Given the description of an element on the screen output the (x, y) to click on. 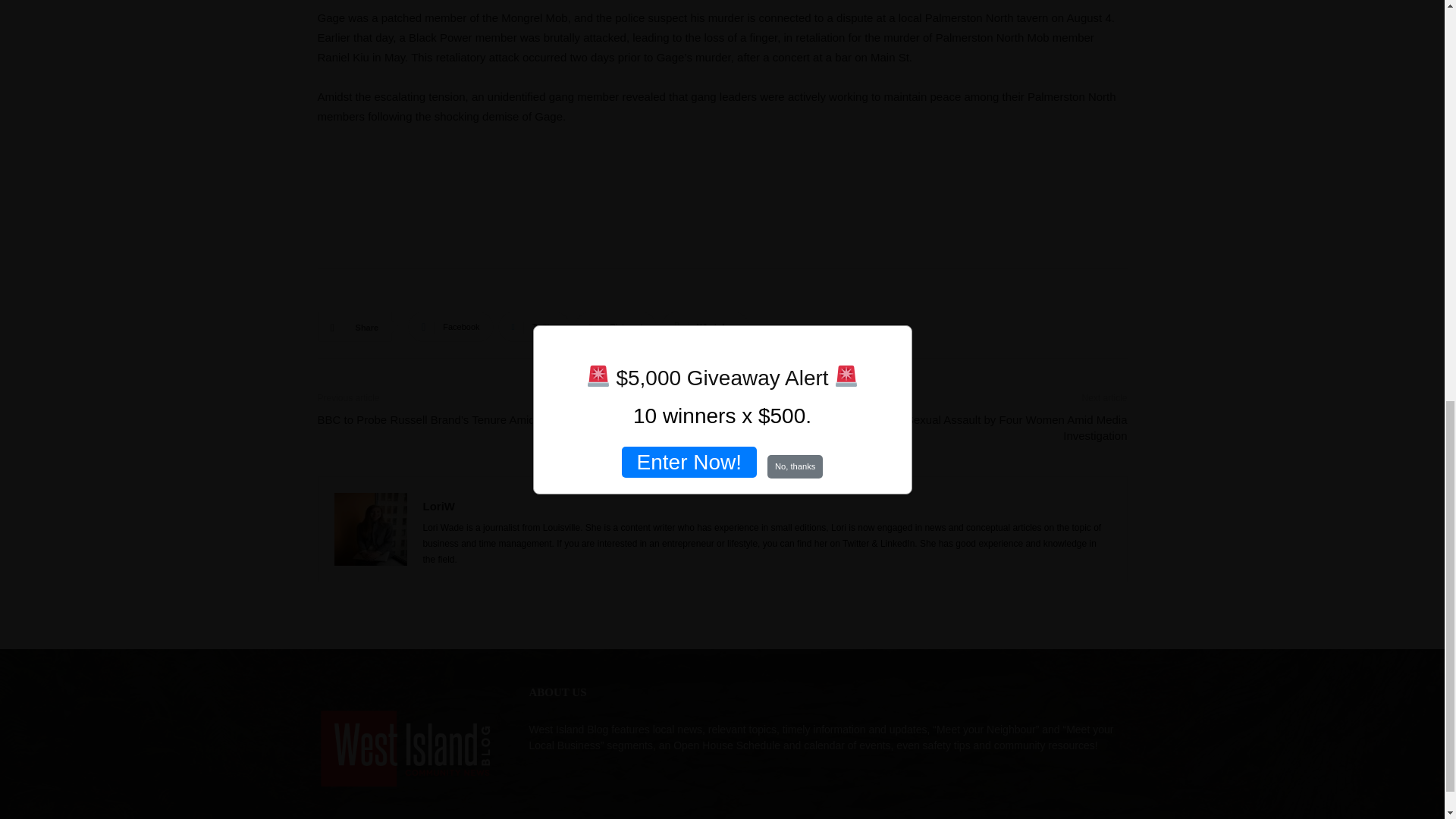
Twitter (533, 327)
WhatsApp (705, 327)
Pinterest (615, 327)
Pinterest (615, 327)
Twitter (533, 327)
Facebook (450, 327)
Facebook (450, 327)
